Given the description of an element on the screen output the (x, y) to click on. 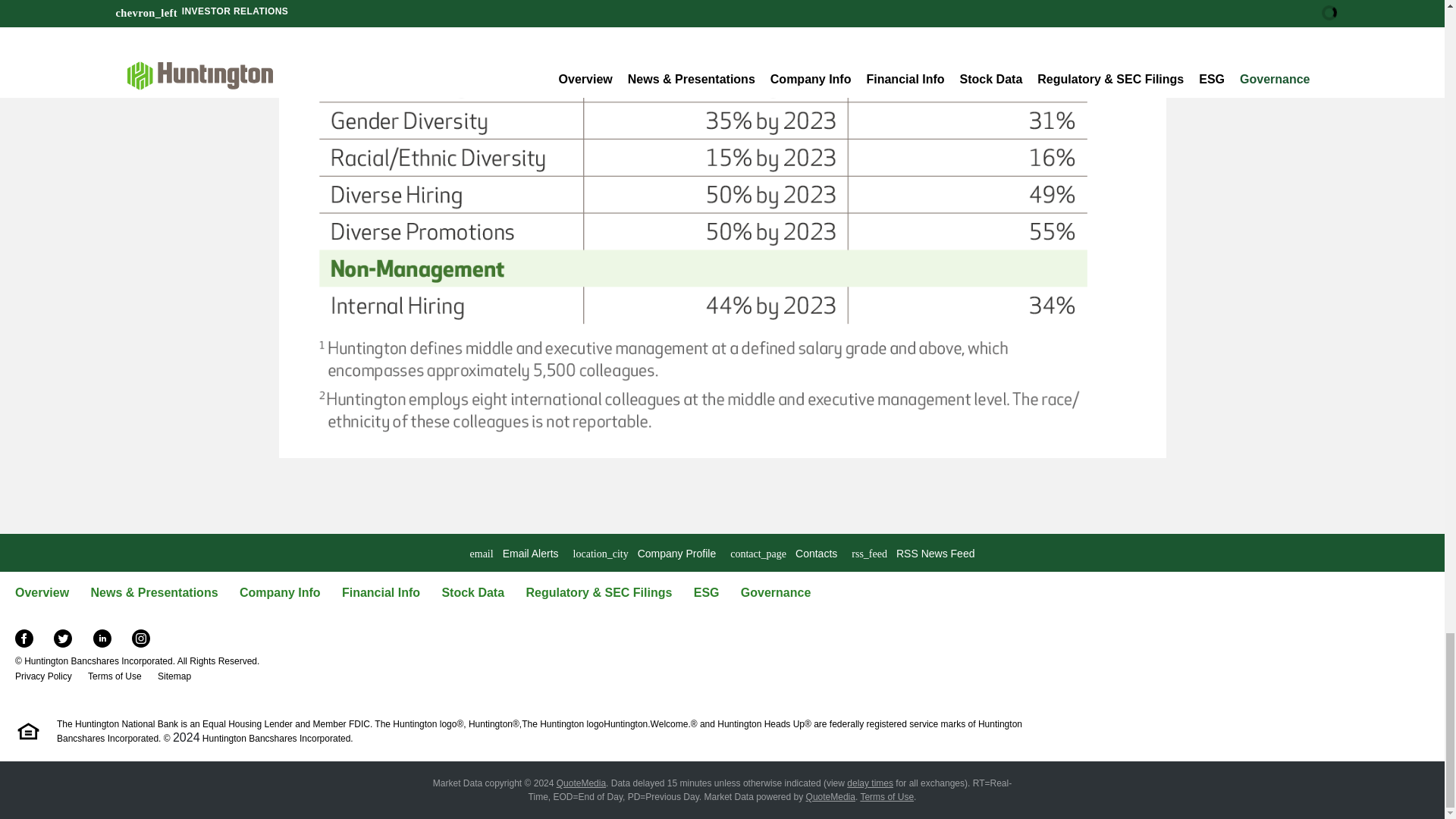
Opens in a new window (63, 637)
Opens in a new window (887, 796)
Opens in a new window (140, 637)
Opens in a new window (580, 783)
Opens in a new window (912, 553)
Opens in a new window (24, 637)
Opens in a new window (103, 637)
Opens in a new window (831, 796)
Opens in a new window (870, 783)
